Given the description of an element on the screen output the (x, y) to click on. 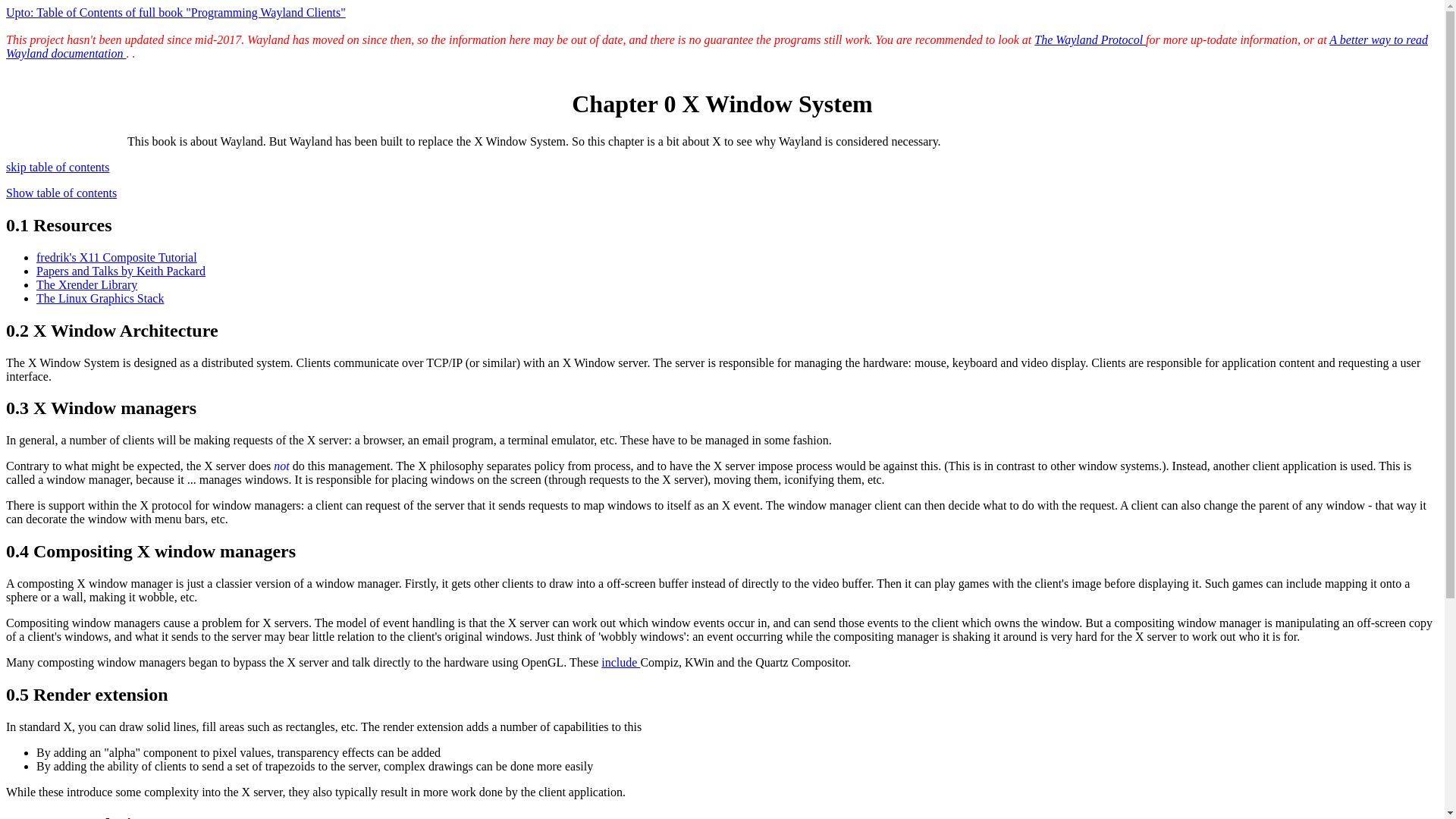
The Xrender Library (86, 284)
fredrik's X11 Composite Tutorial (116, 256)
skip table of contents (57, 166)
Show table of contents (60, 192)
A better way to read Wayland documentation (716, 46)
The Wayland Protocol (1089, 39)
Papers and Talks by Keith Packard (120, 270)
The Linux Graphics Stack (99, 297)
include (620, 662)
